Given the description of an element on the screen output the (x, y) to click on. 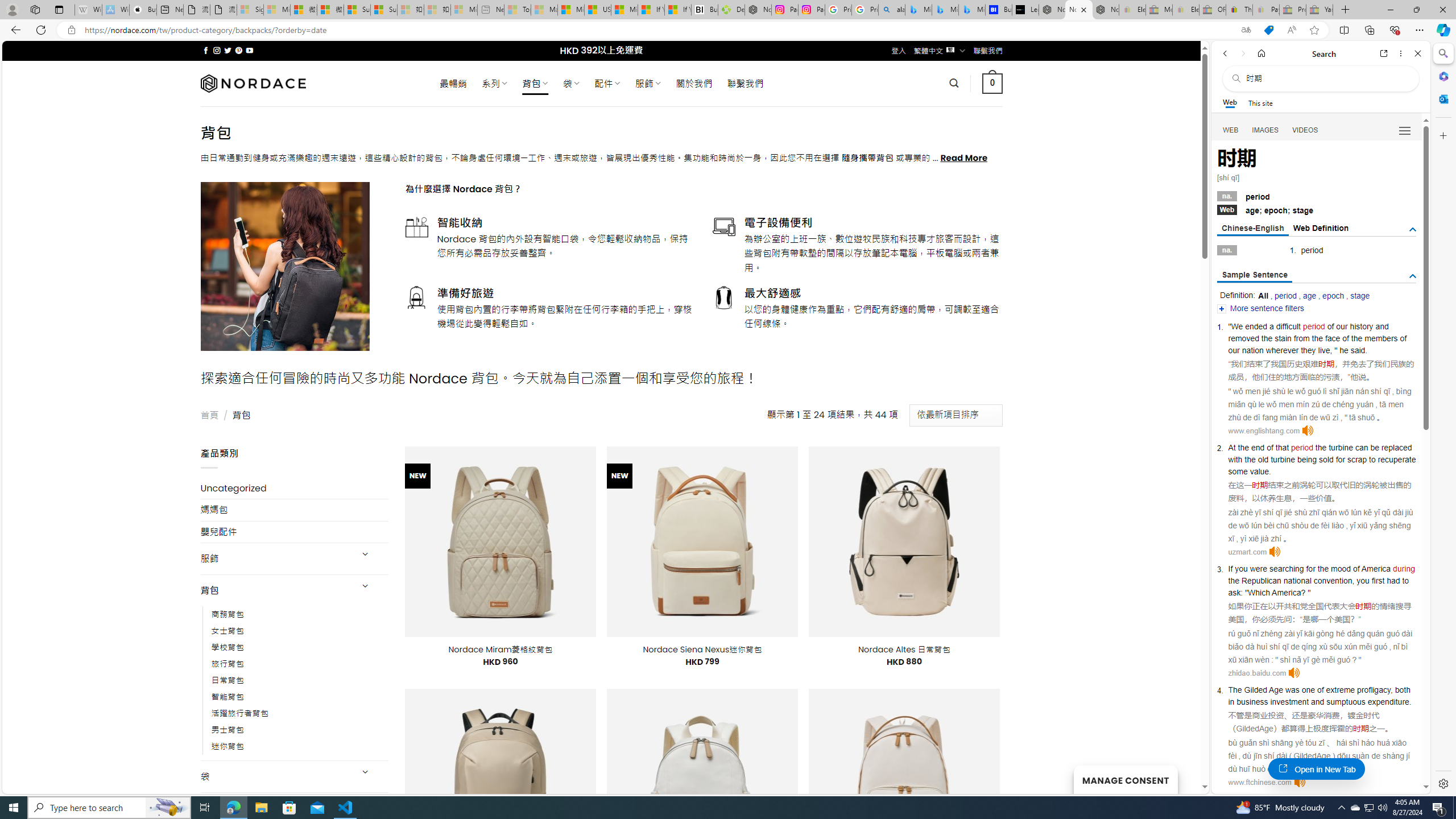
Nordace (252, 83)
difficult (1287, 325)
our (1342, 325)
Age (1276, 689)
searching (1286, 568)
sumptuous (1345, 700)
Customize (1442, 135)
WEB (1231, 130)
Search the web (1326, 78)
Threats and offensive language policy | eBay (1239, 9)
